Given the description of an element on the screen output the (x, y) to click on. 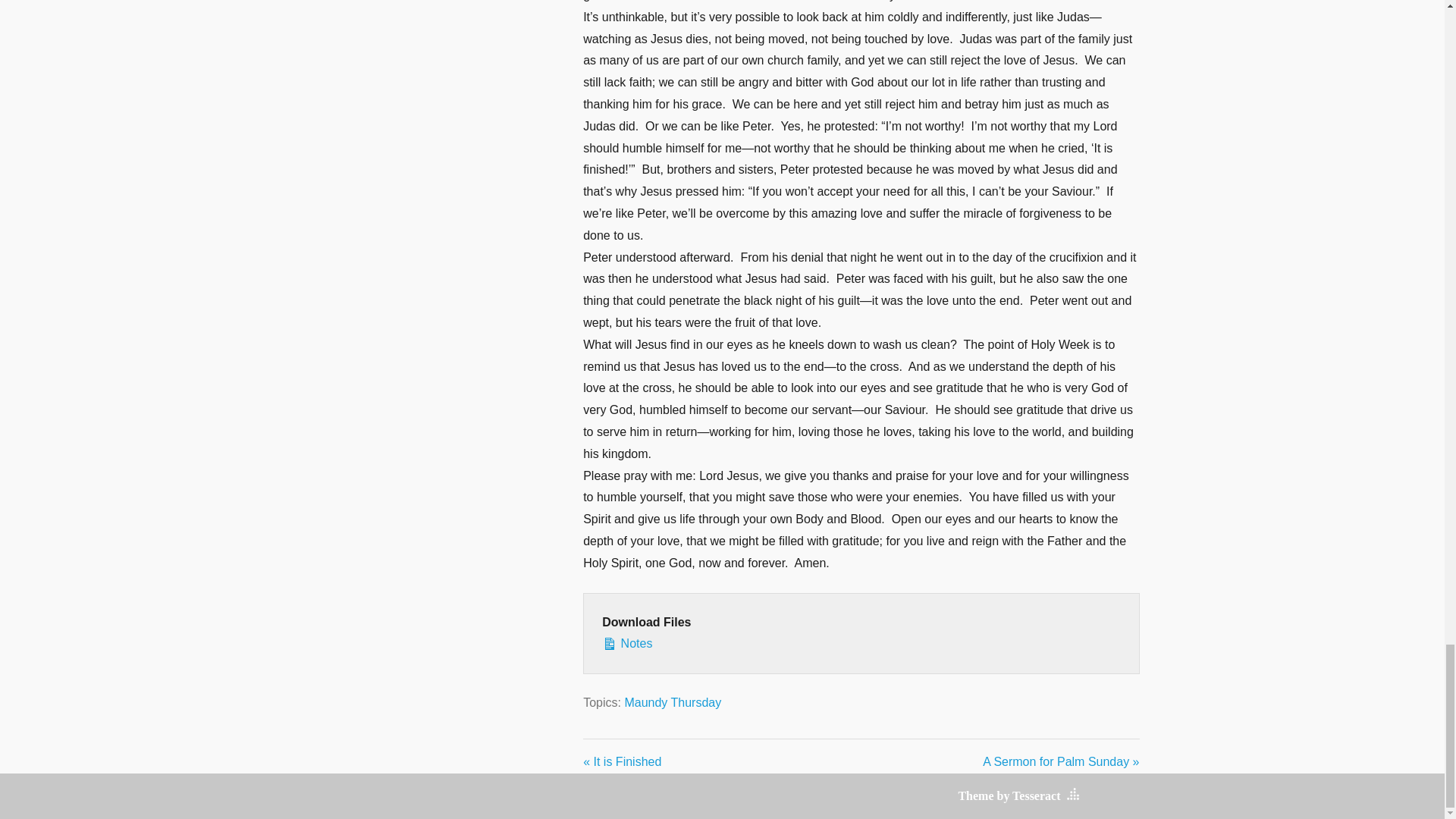
Notes (860, 644)
Maundy Thursday (672, 702)
Theme by Tesseract (1008, 795)
